Given the description of an element on the screen output the (x, y) to click on. 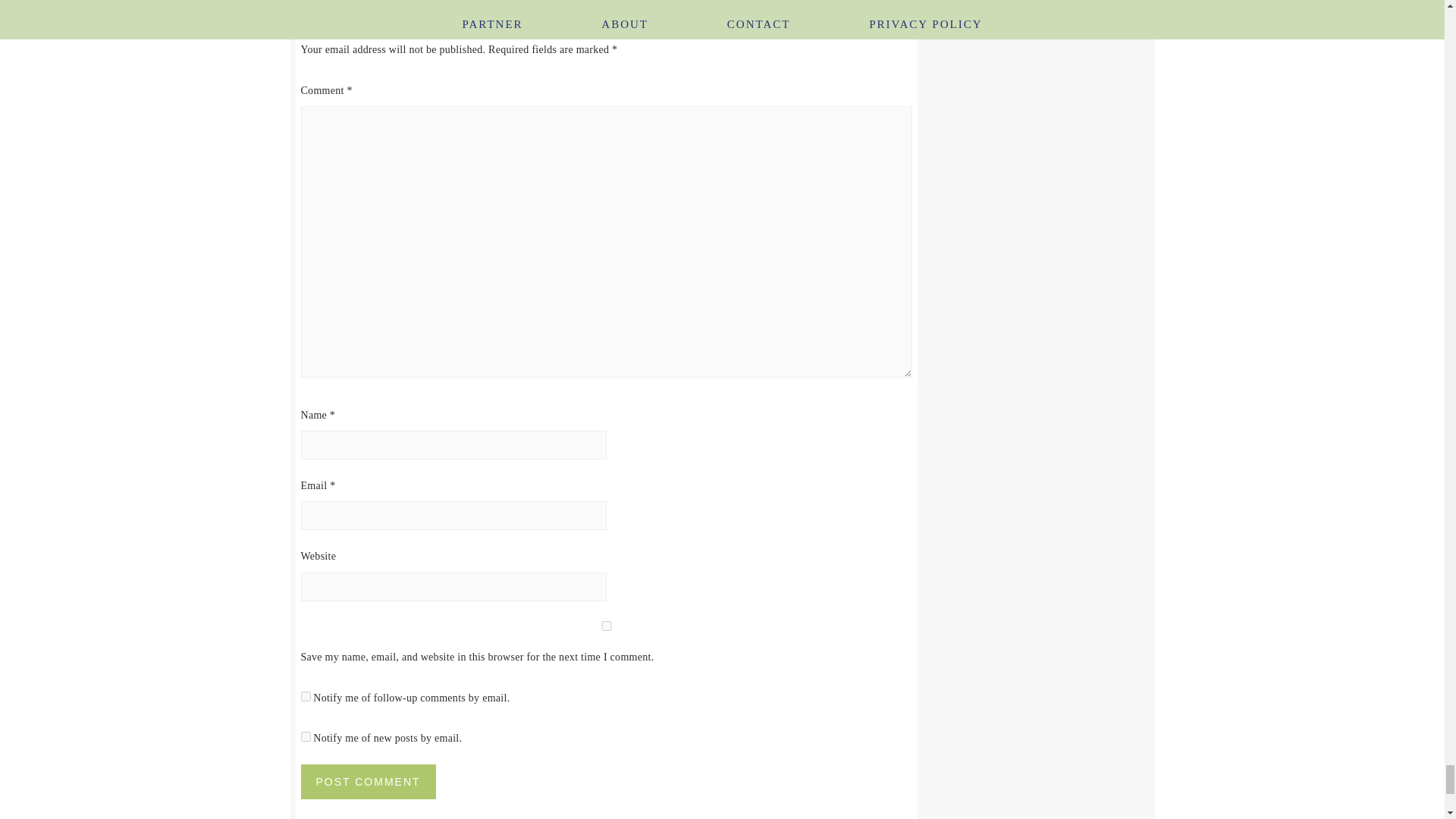
subscribe (304, 696)
Post Comment (367, 781)
yes (605, 625)
subscribe (304, 737)
